Given the description of an element on the screen output the (x, y) to click on. 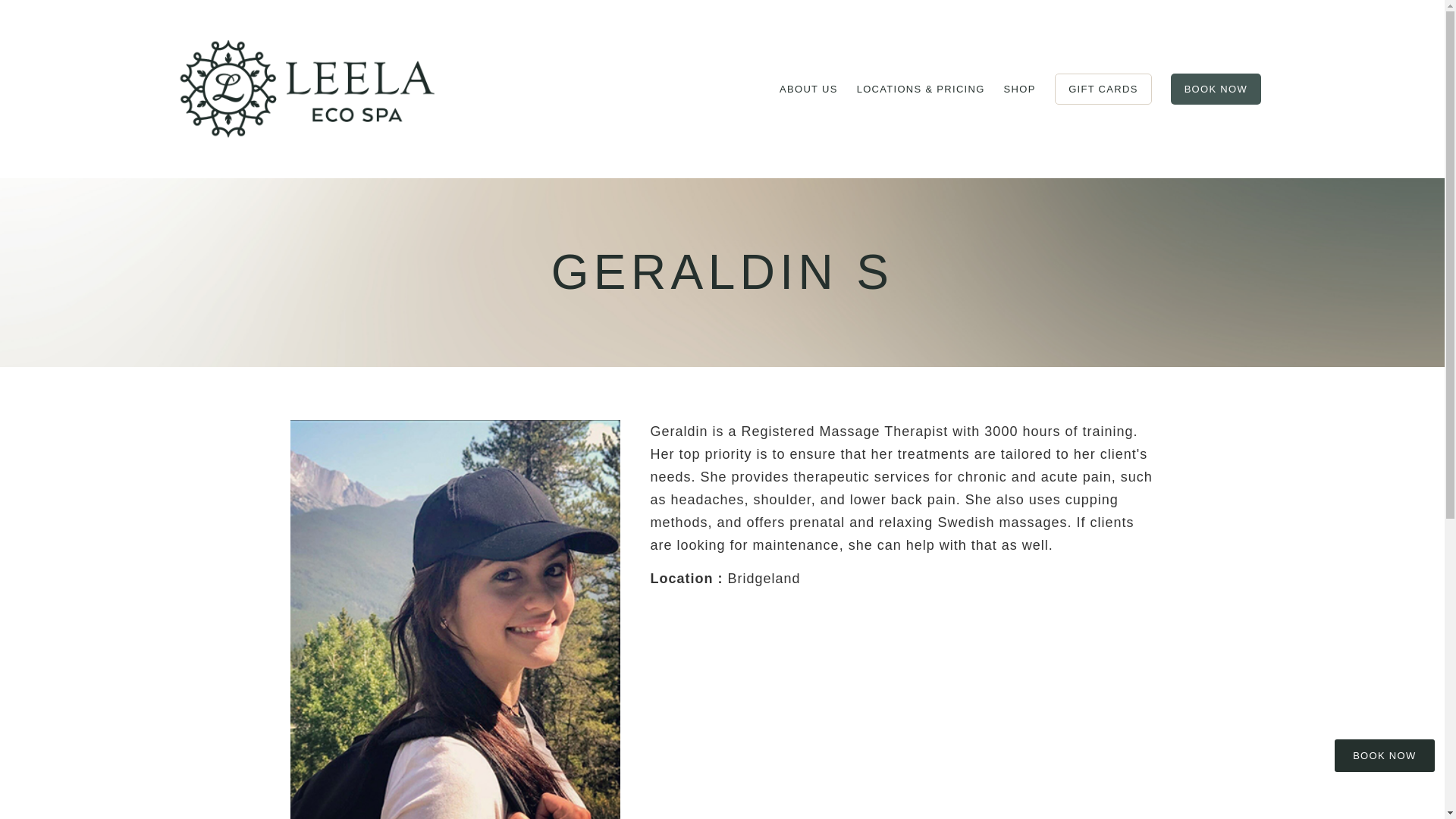
SHOP (1019, 88)
GIFT CARDS (1103, 88)
BOOK NOW (1215, 88)
ABOUT US (808, 88)
